Given the description of an element on the screen output the (x, y) to click on. 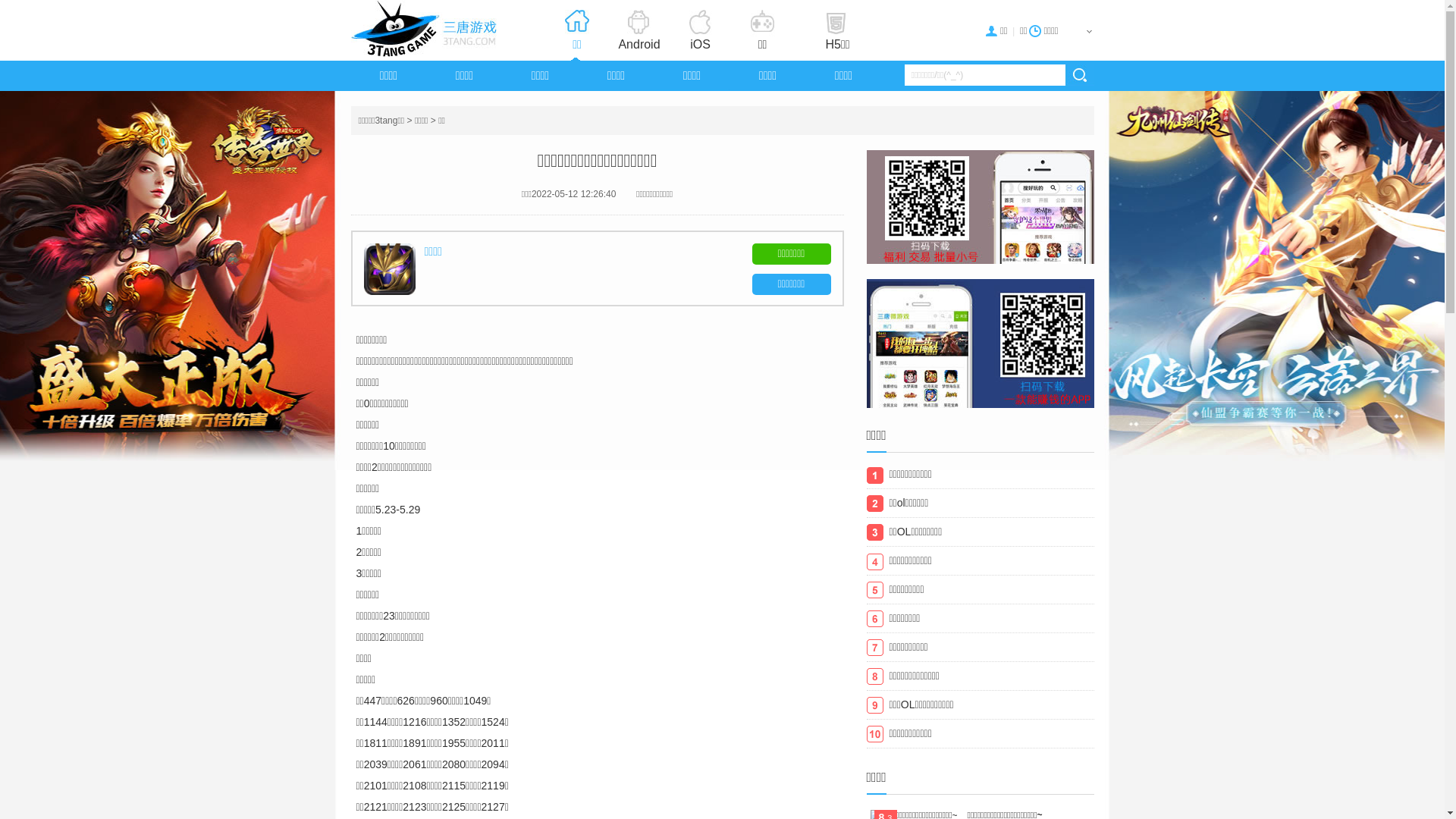
Android Element type: text (638, 30)
iOS Element type: text (699, 30)
